Given the description of an element on the screen output the (x, y) to click on. 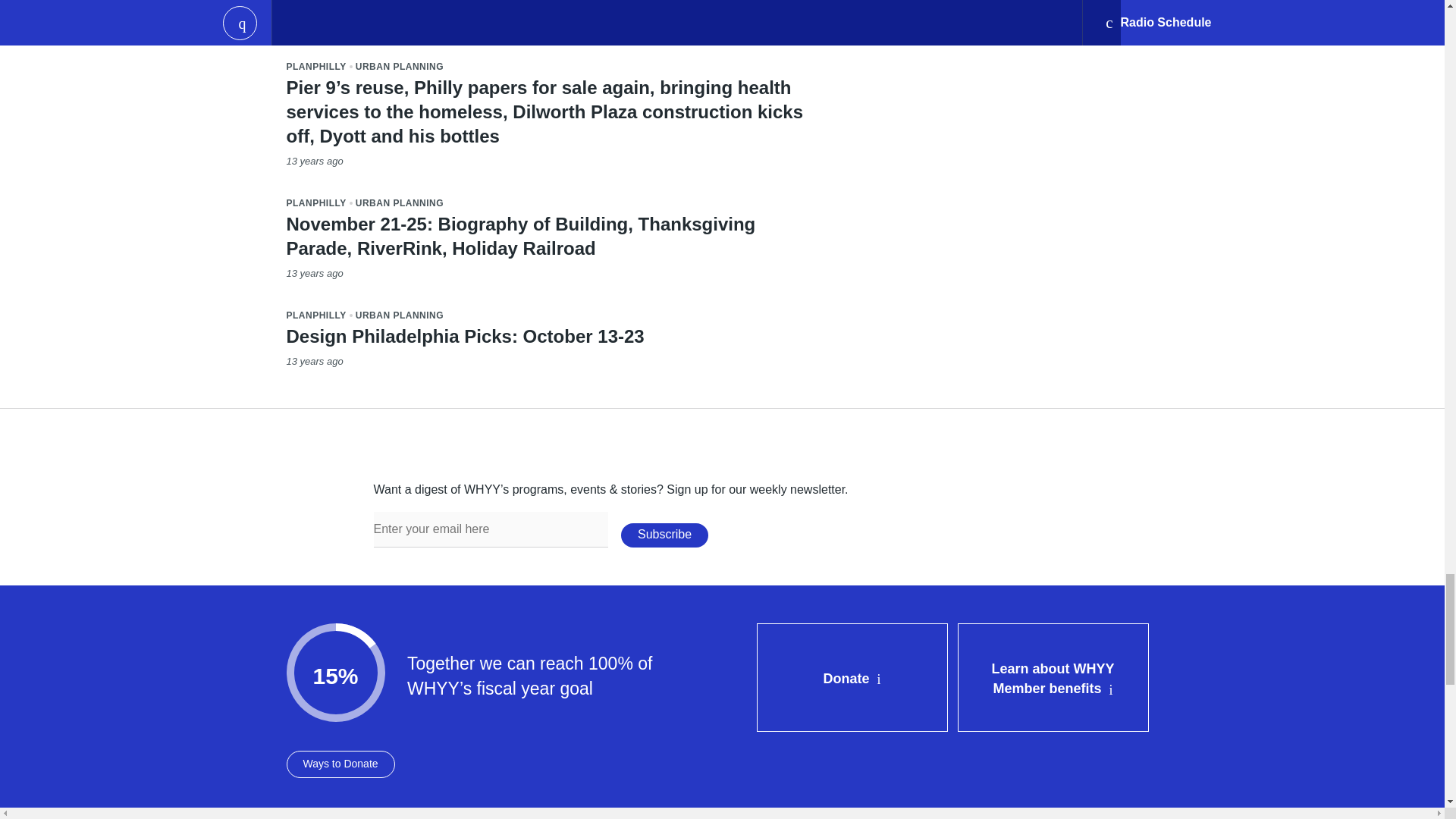
Design Philadelphia Picks: October 13-23 (465, 335)
Subscribe (664, 535)
